Given the description of an element on the screen output the (x, y) to click on. 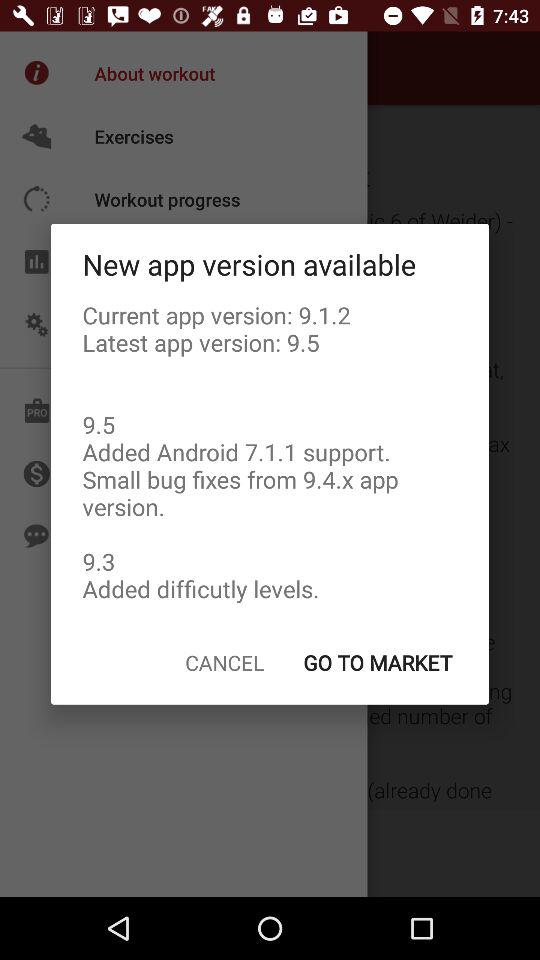
tap the item next to go to market item (224, 662)
